Given the description of an element on the screen output the (x, y) to click on. 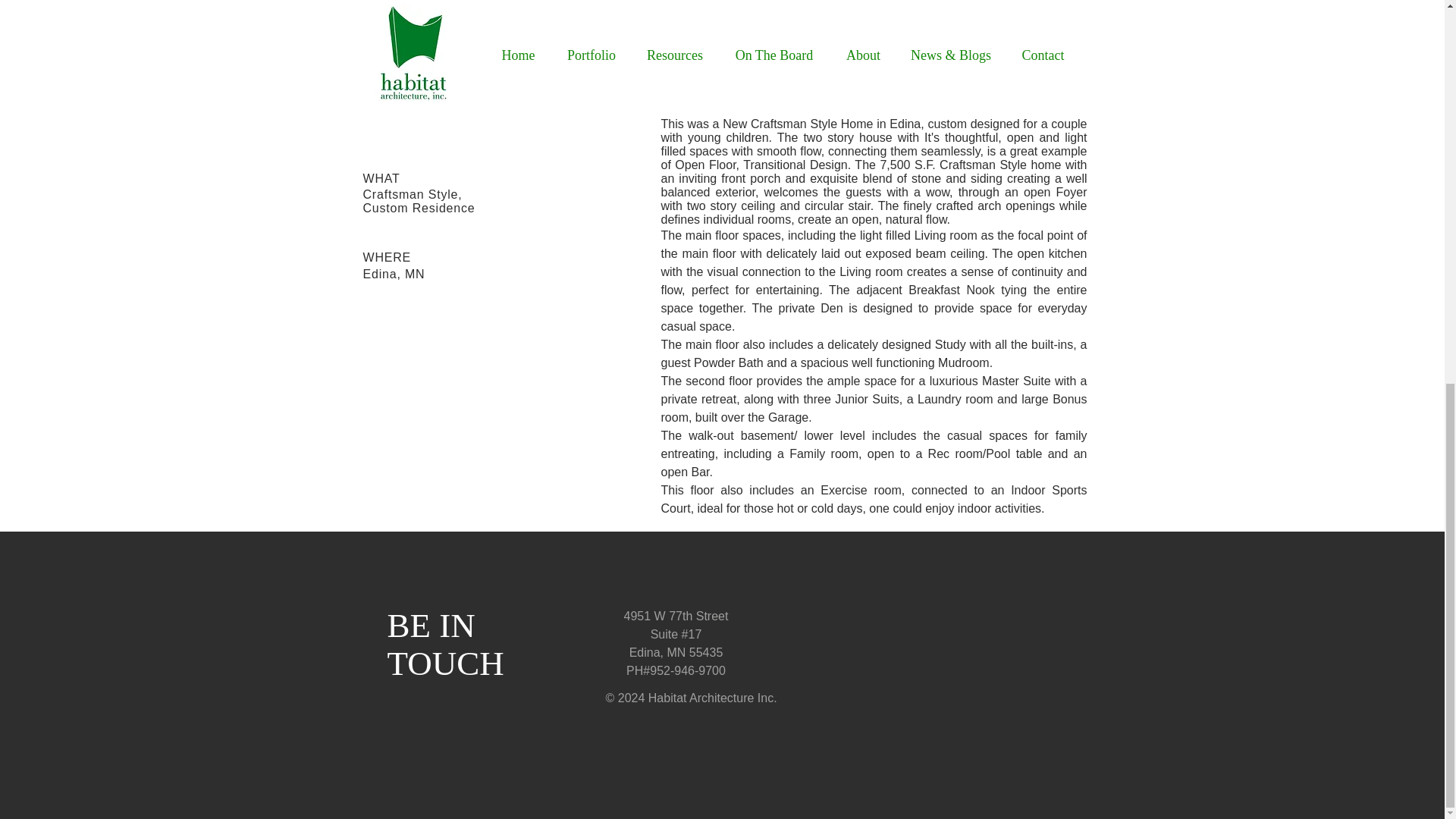
Transitional (773, 164)
